Given the description of an element on the screen output the (x, y) to click on. 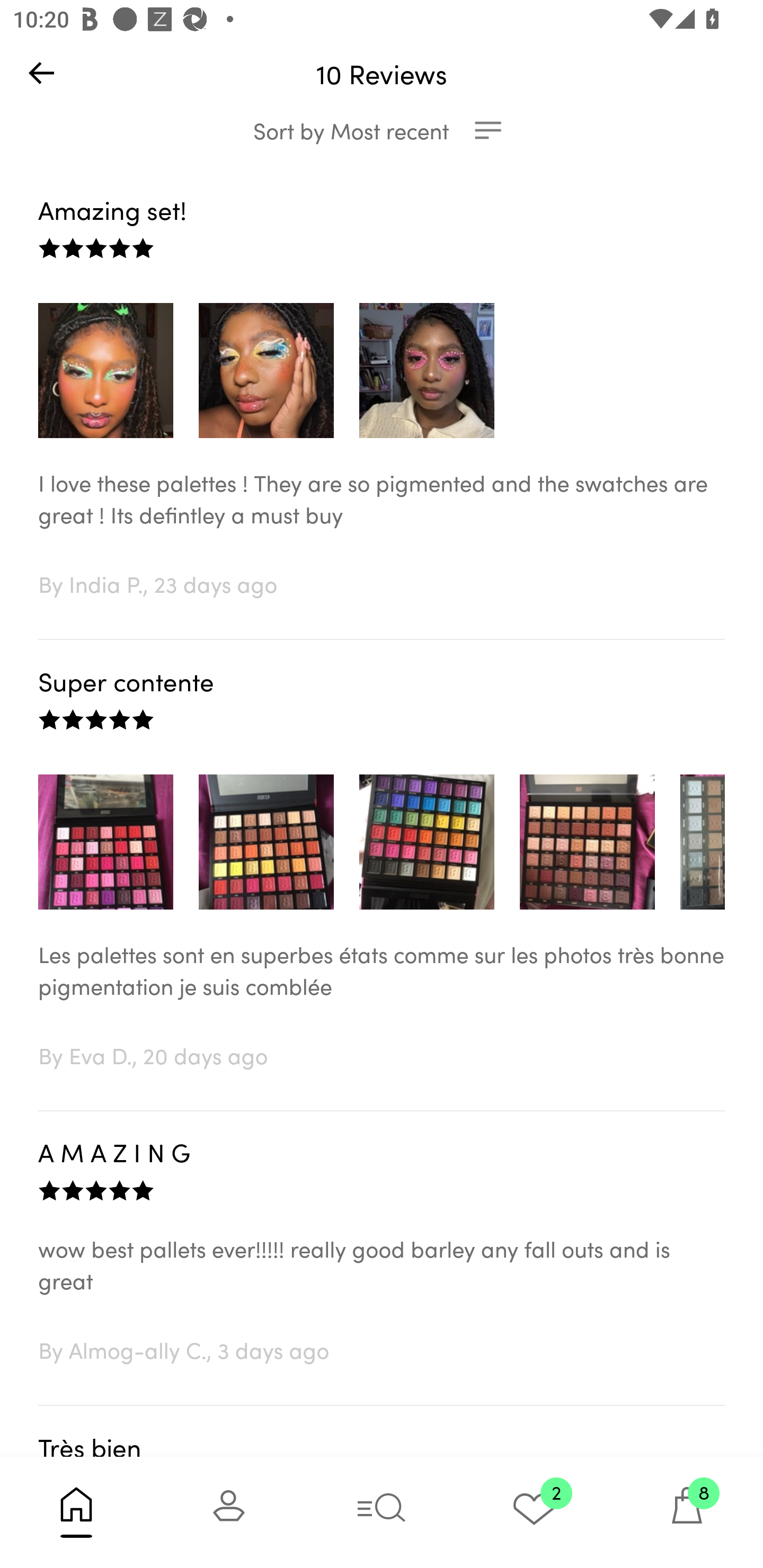
Sort by Most recent (381, 130)
2 (533, 1512)
8 (686, 1512)
